Given the description of an element on the screen output the (x, y) to click on. 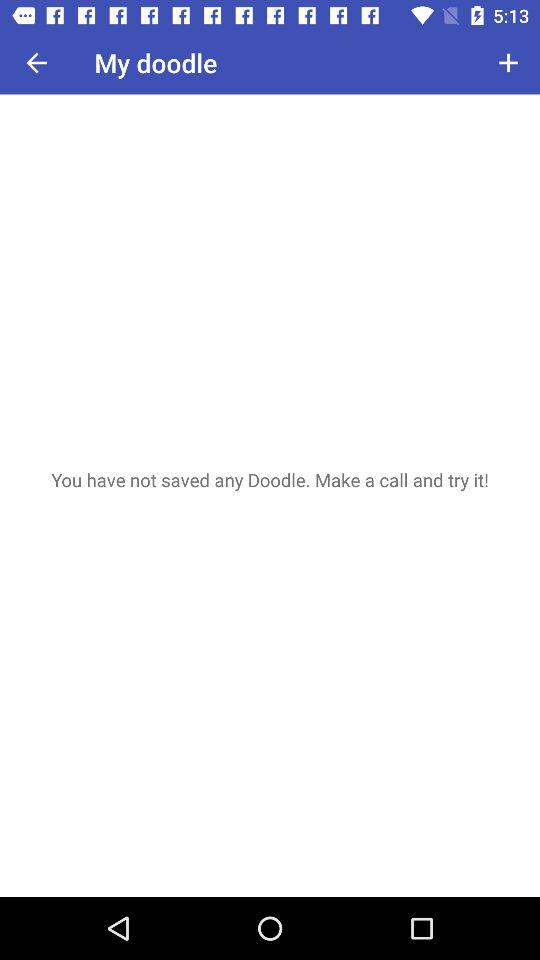
tap icon next to my doodle item (508, 62)
